Given the description of an element on the screen output the (x, y) to click on. 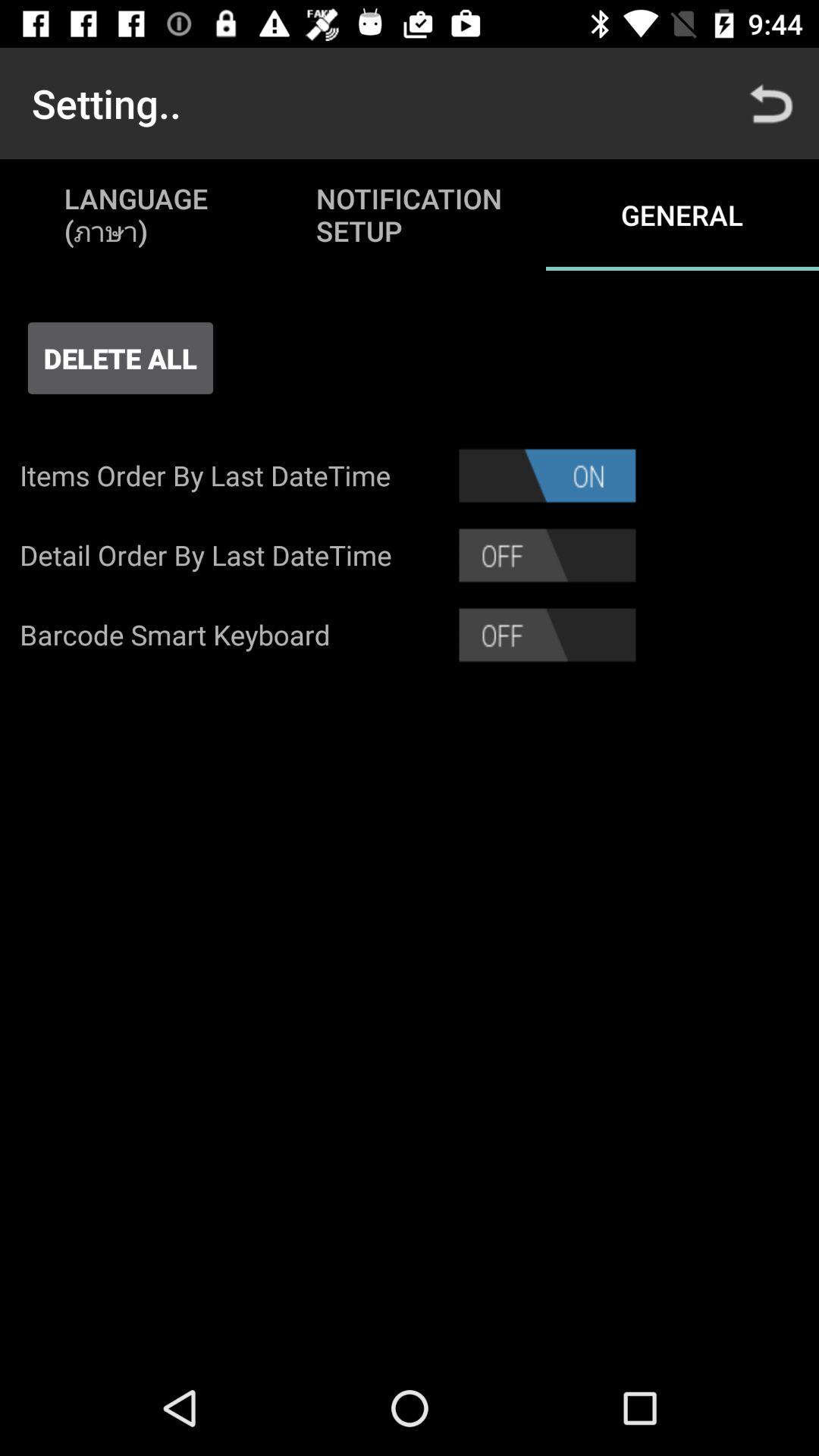
tap the app next to the items order by item (547, 475)
